Given the description of an element on the screen output the (x, y) to click on. 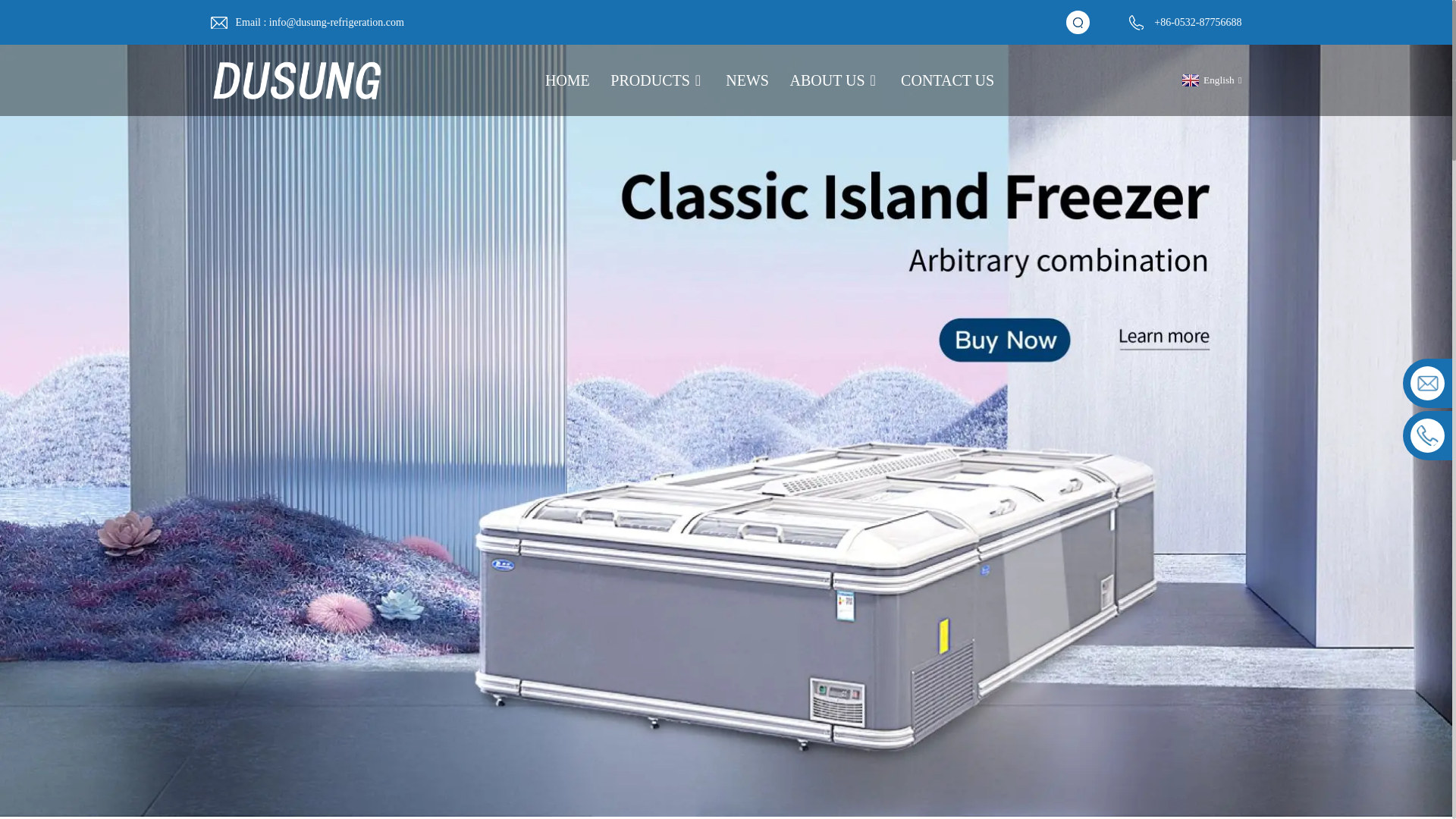
English (1209, 79)
English (1209, 79)
CONTACT US (947, 80)
ABOUT US (835, 80)
PRODUCTS (657, 80)
